Given the description of an element on the screen output the (x, y) to click on. 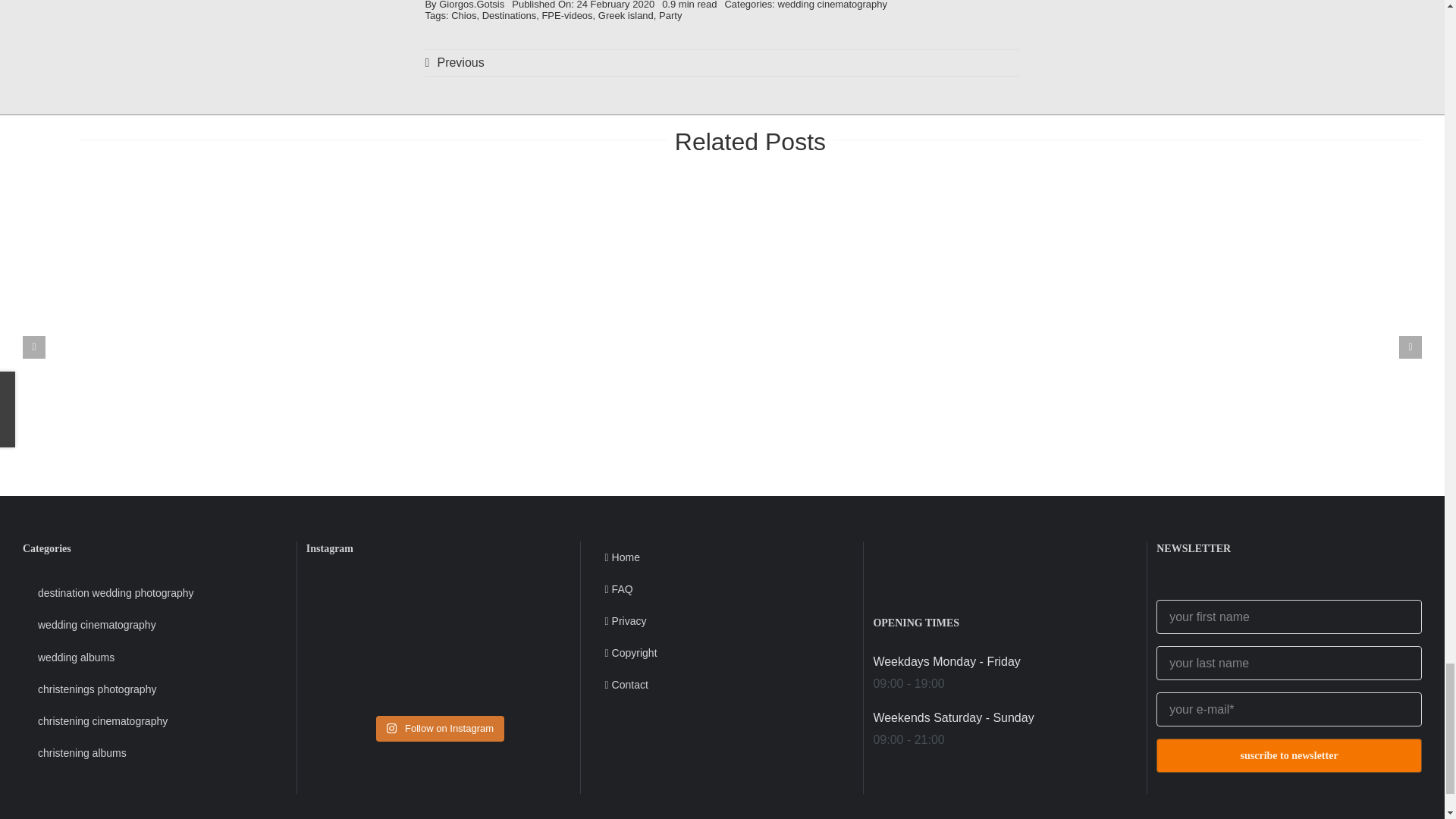
suscribe to newsletter (1289, 693)
